Given the description of an element on the screen output the (x, y) to click on. 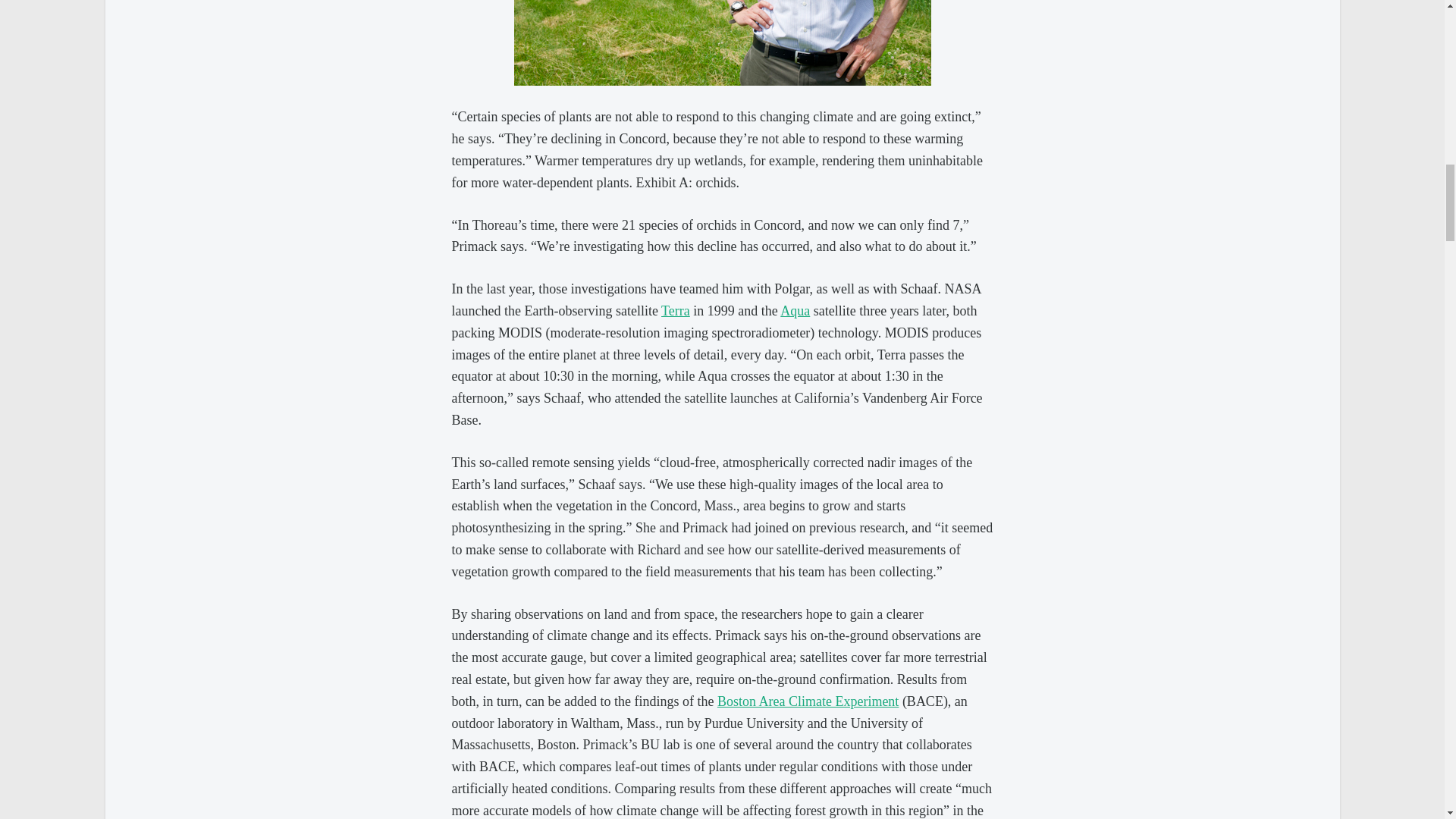
Boston Area Climate Experiment (807, 701)
Richard Primack, Boston University (722, 42)
Terra (675, 310)
Aqua (794, 310)
